Given the description of an element on the screen output the (x, y) to click on. 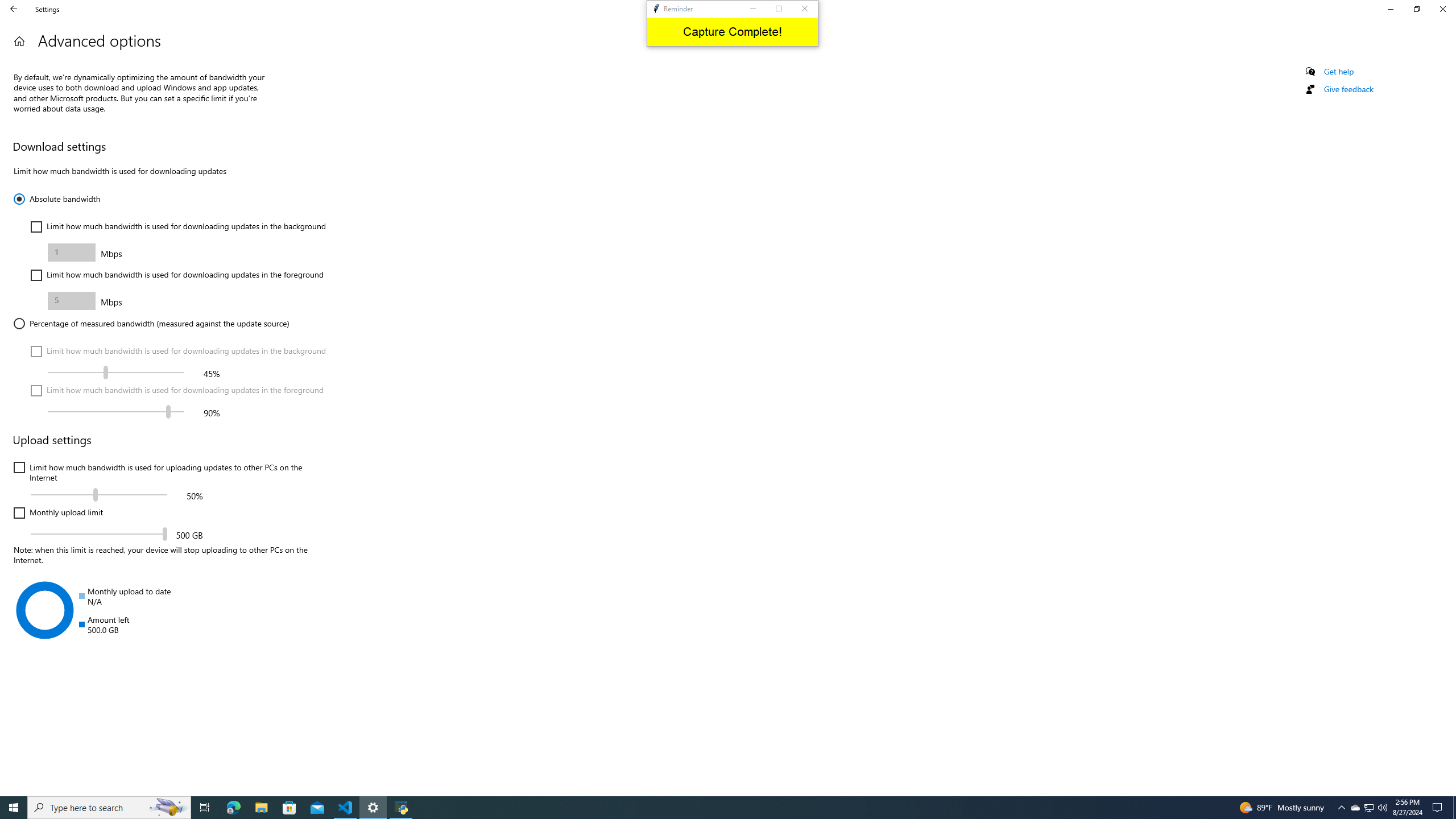
Give feedback (1348, 88)
Absolute foreground bandwidth (1355, 807)
Visual Studio Code - 1 running window (72, 300)
File Explorer (345, 807)
Microsoft Edge (261, 807)
Get help (233, 807)
Action Center, No new notifications (1338, 71)
